Given the description of an element on the screen output the (x, y) to click on. 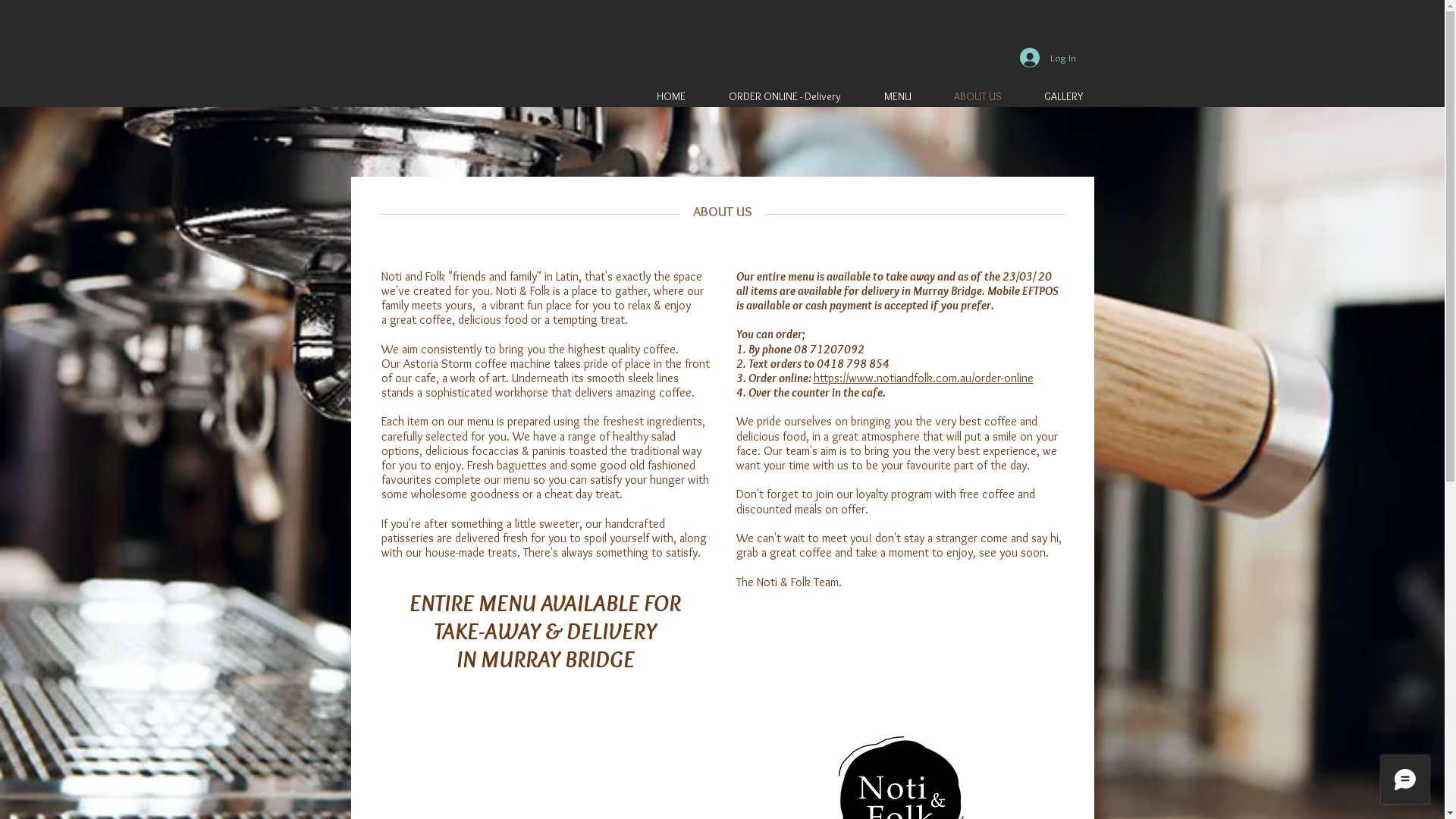
HOME Element type: text (660, 96)
GALLERY Element type: text (1053, 96)
ORDER ONLINE - Delivery Element type: text (773, 96)
MENU Element type: text (887, 96)
ABOUT US Element type: text (967, 96)
Log In Element type: text (1046, 57)
https://www.notiandfolk.com.au/order-online Element type: text (922, 377)
